Given the description of an element on the screen output the (x, y) to click on. 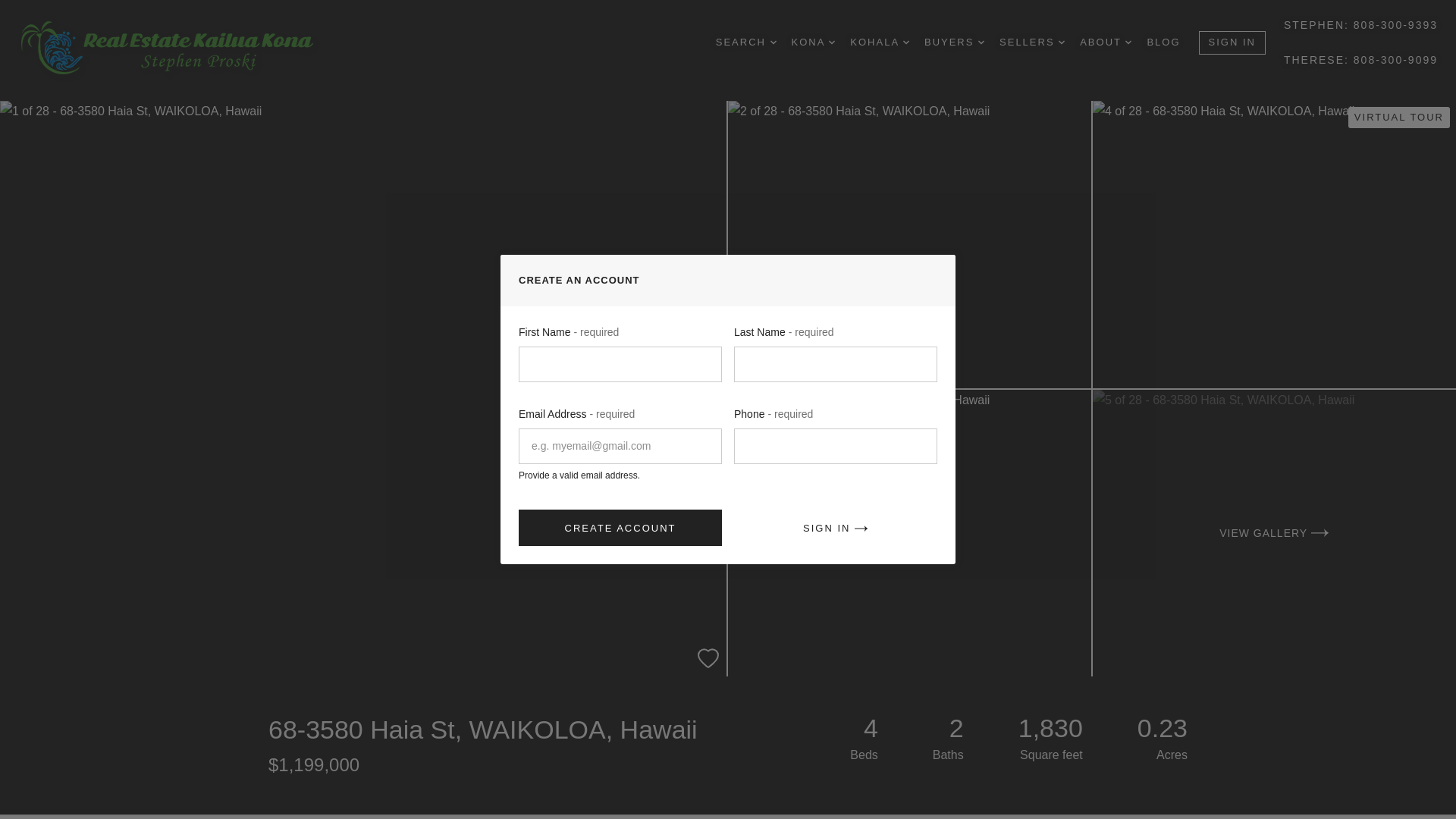
SEARCH DROPDOWN ARROW (746, 42)
DROPDOWN ARROW (1061, 42)
KOHALA DROPDOWN ARROW (879, 42)
KONA DROPDOWN ARROW (813, 42)
DROPDOWN ARROW (773, 42)
DROPDOWN ARROW (1128, 42)
DROPDOWN ARROW (831, 42)
DROPDOWN ARROW (981, 42)
BUYERS DROPDOWN ARROW (954, 42)
DROPDOWN ARROW (905, 42)
